Given the description of an element on the screen output the (x, y) to click on. 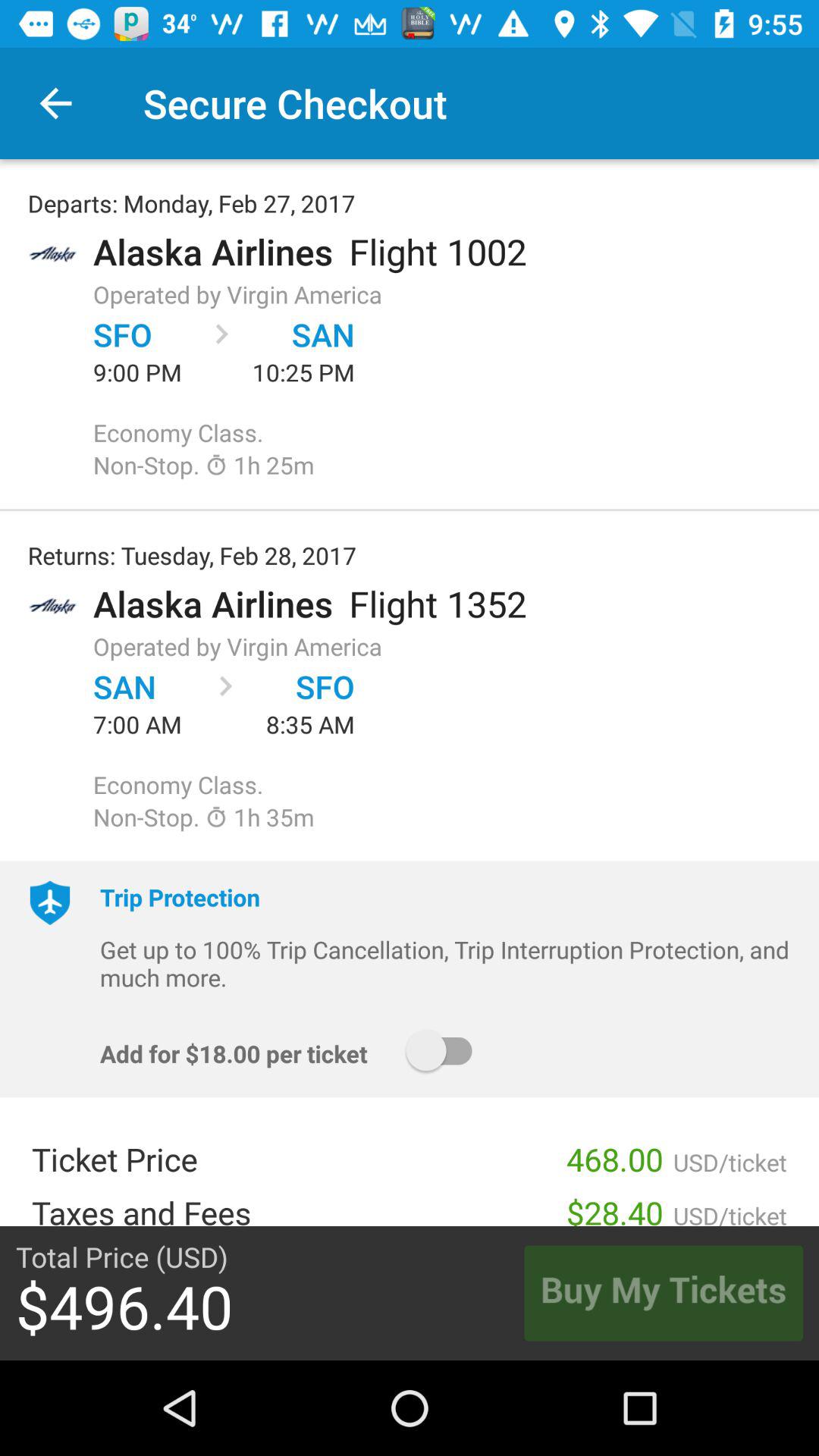
press icon next to the $496.40 (663, 1293)
